Given the description of an element on the screen output the (x, y) to click on. 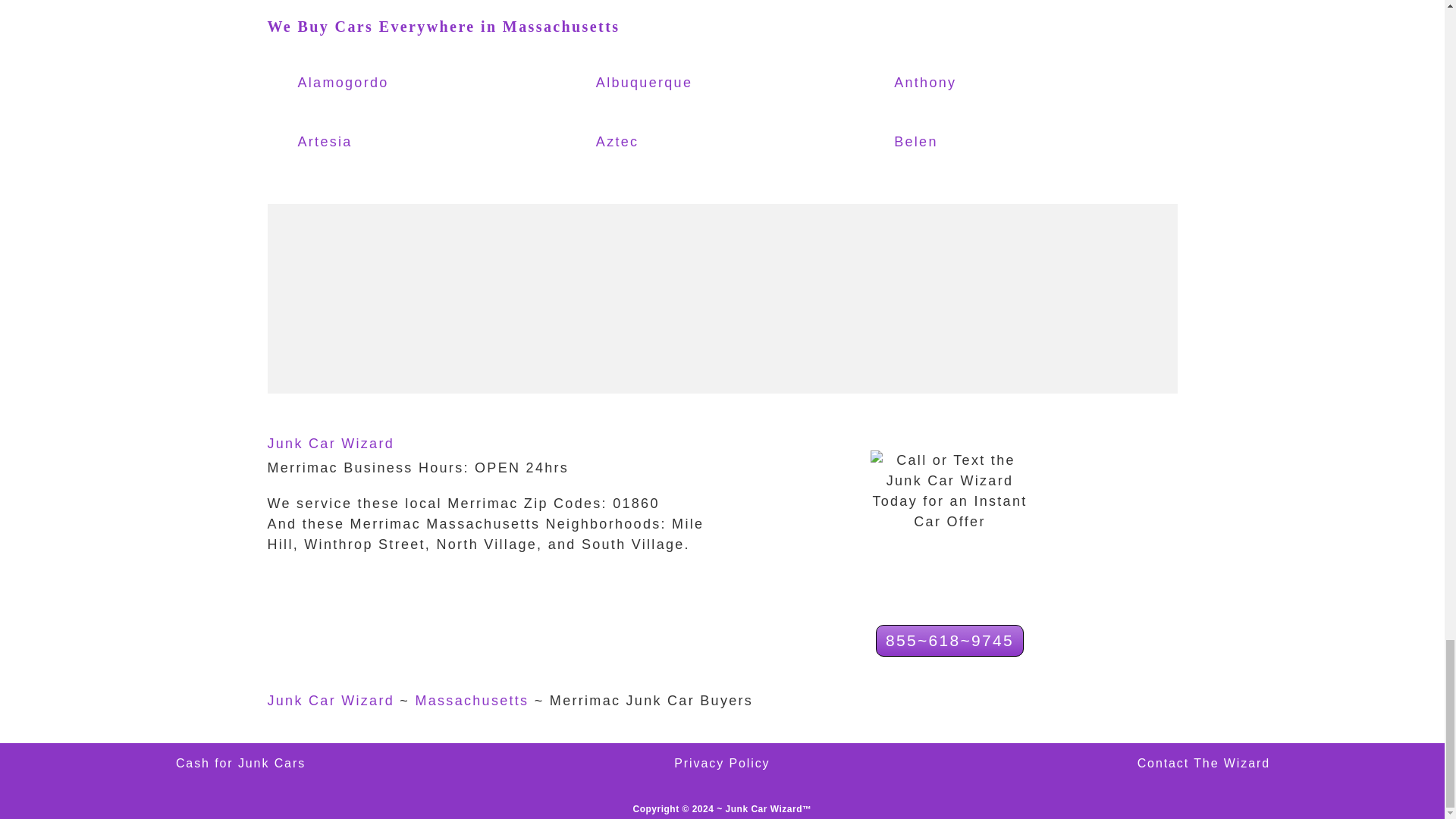
Cash for Junk Cars (240, 762)
We Buy Junk Cars in Artesia, NM (363, 142)
Aztec (662, 142)
We Buy Junk Cars in Belen, NM (960, 142)
We Buy Junk Cars in Aztec, NM (662, 142)
Belen (960, 142)
We Buy Cars Everywhere in Massachusetts (443, 26)
Junk Car Wizard (330, 443)
We Buy Junk Cars in Albuquerque, NM (662, 82)
